Given the description of an element on the screen output the (x, y) to click on. 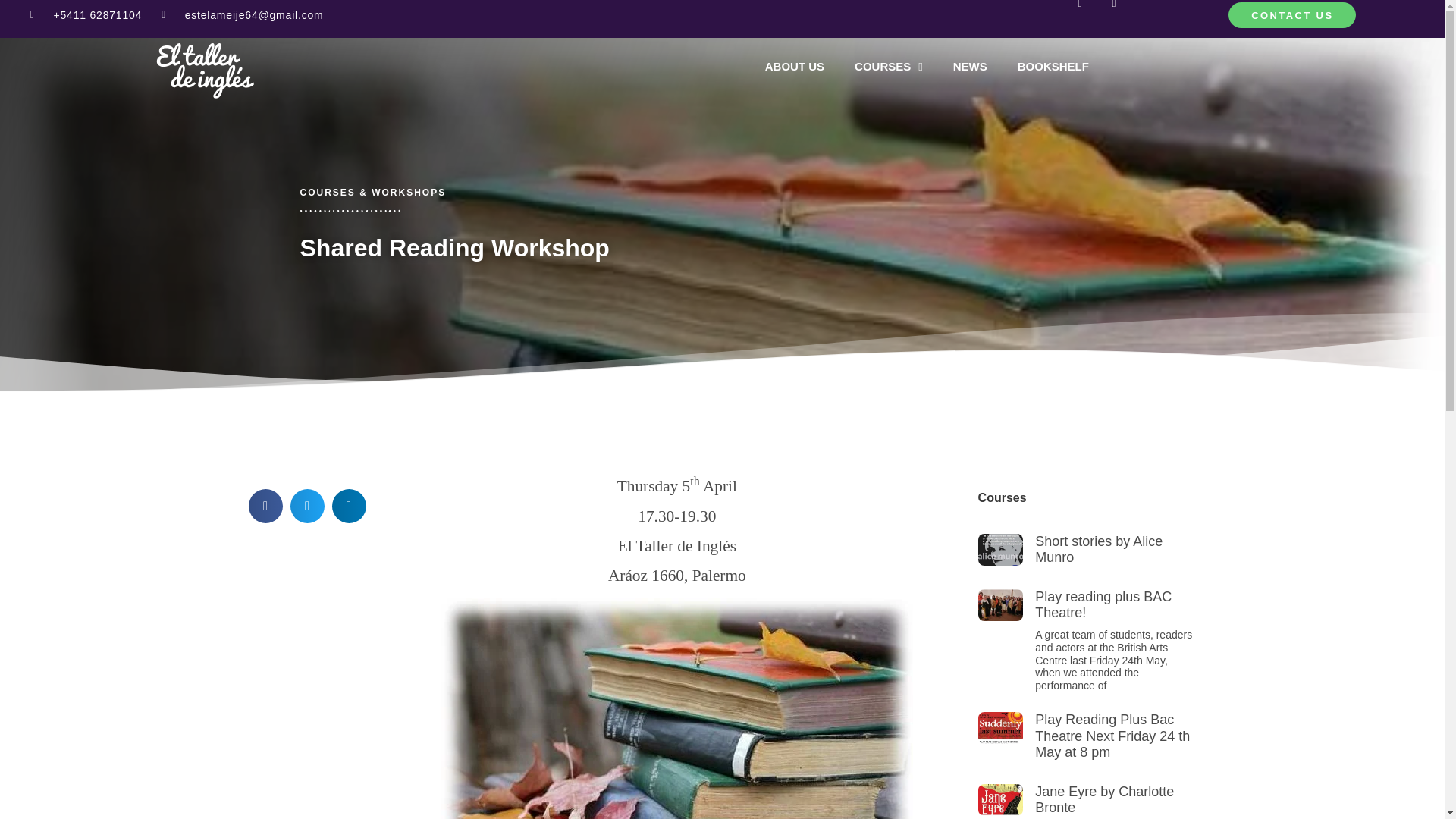
CONTACT US (1291, 14)
Play Reading Plus Bac Theatre Next Friday 24 th May at 8 pm (1112, 735)
Play reading plus BAC Theatre! (1103, 604)
COURSES (888, 66)
Short stories by Alice Munro (1098, 549)
ABOUT US (794, 66)
Jane Eyre by Charlotte Bronte (1104, 799)
BOOKSHELF (1053, 66)
NEWS (970, 66)
